Given the description of an element on the screen output the (x, y) to click on. 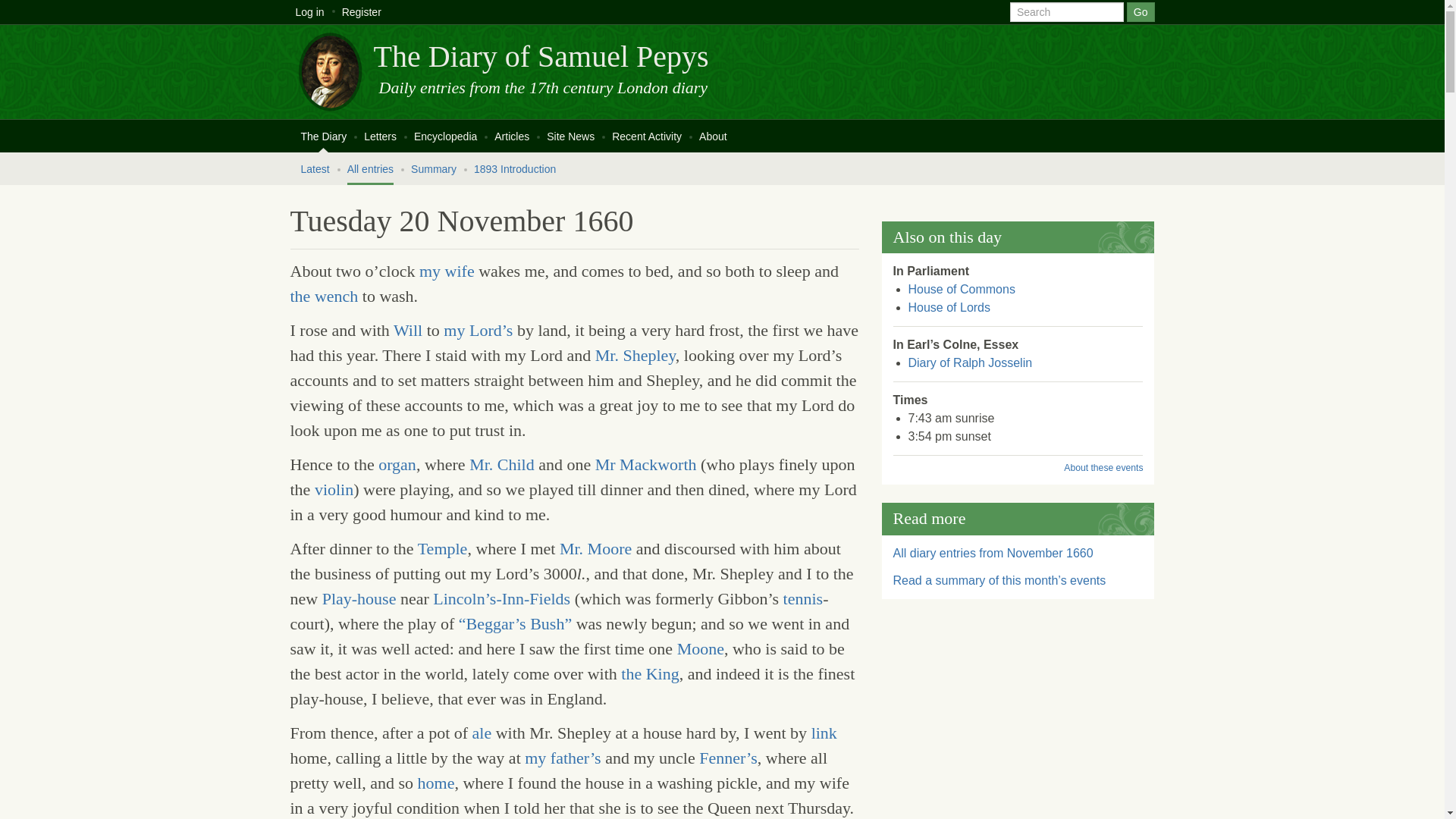
All entries (370, 168)
tennis (803, 598)
Mr. Child (501, 464)
The Diary of Samuel Pepys (539, 56)
organ (397, 464)
Encyclopedia (445, 135)
To the front page (539, 56)
my wife (446, 270)
home (435, 782)
violin (333, 488)
The Diary (323, 135)
Will (407, 330)
Mr. Moore (595, 547)
Log in (309, 12)
Play-house (358, 598)
